Given the description of an element on the screen output the (x, y) to click on. 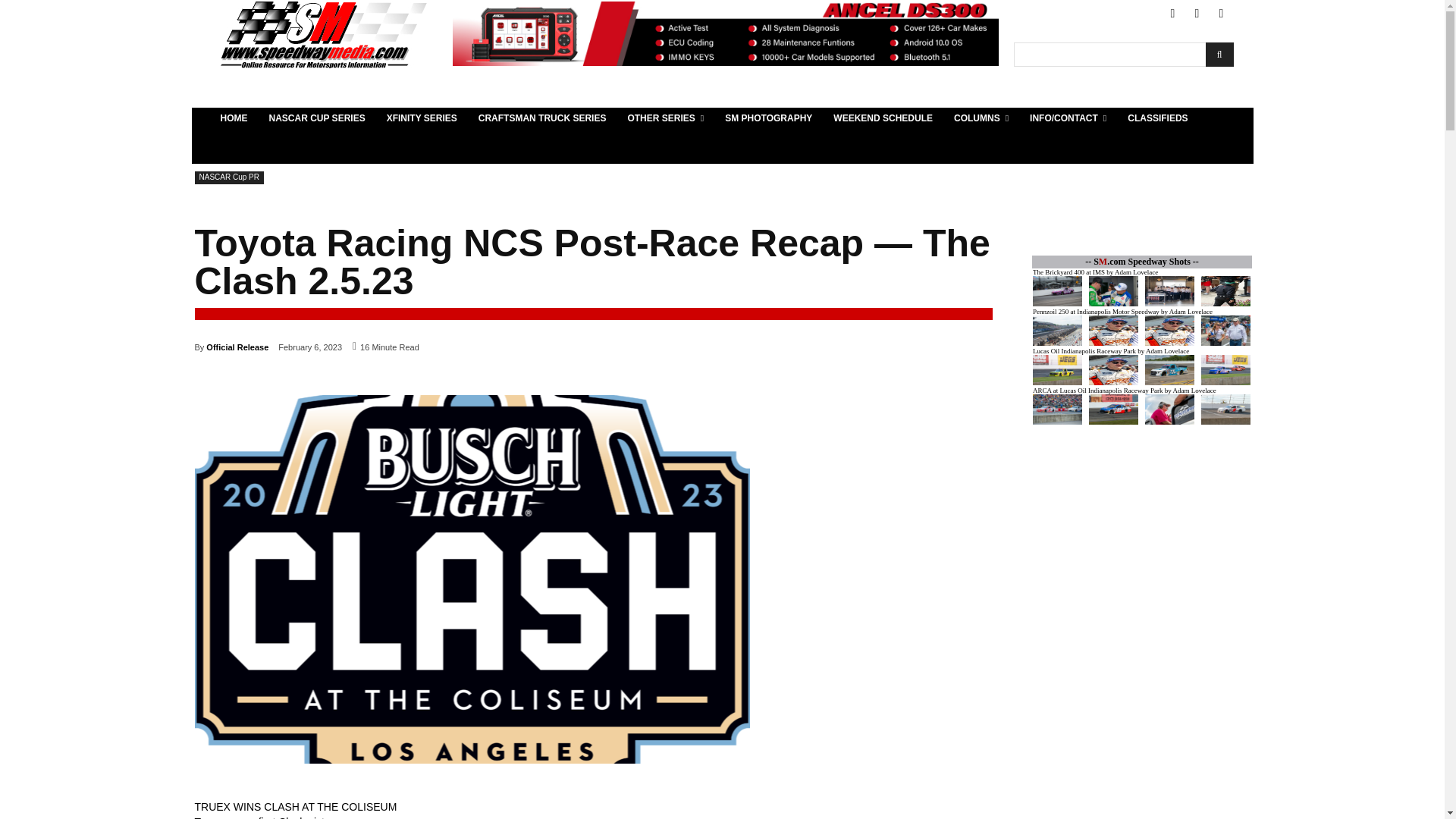
NASCAR CUP SERIES (316, 117)
Instagram (1220, 13)
XFINITY SERIES (421, 117)
CRAFTSMAN TRUCK SERIES (542, 117)
Twitter (1196, 13)
HOME (233, 117)
Facebook (1172, 13)
OTHER SERIES (664, 118)
